Given the description of an element on the screen output the (x, y) to click on. 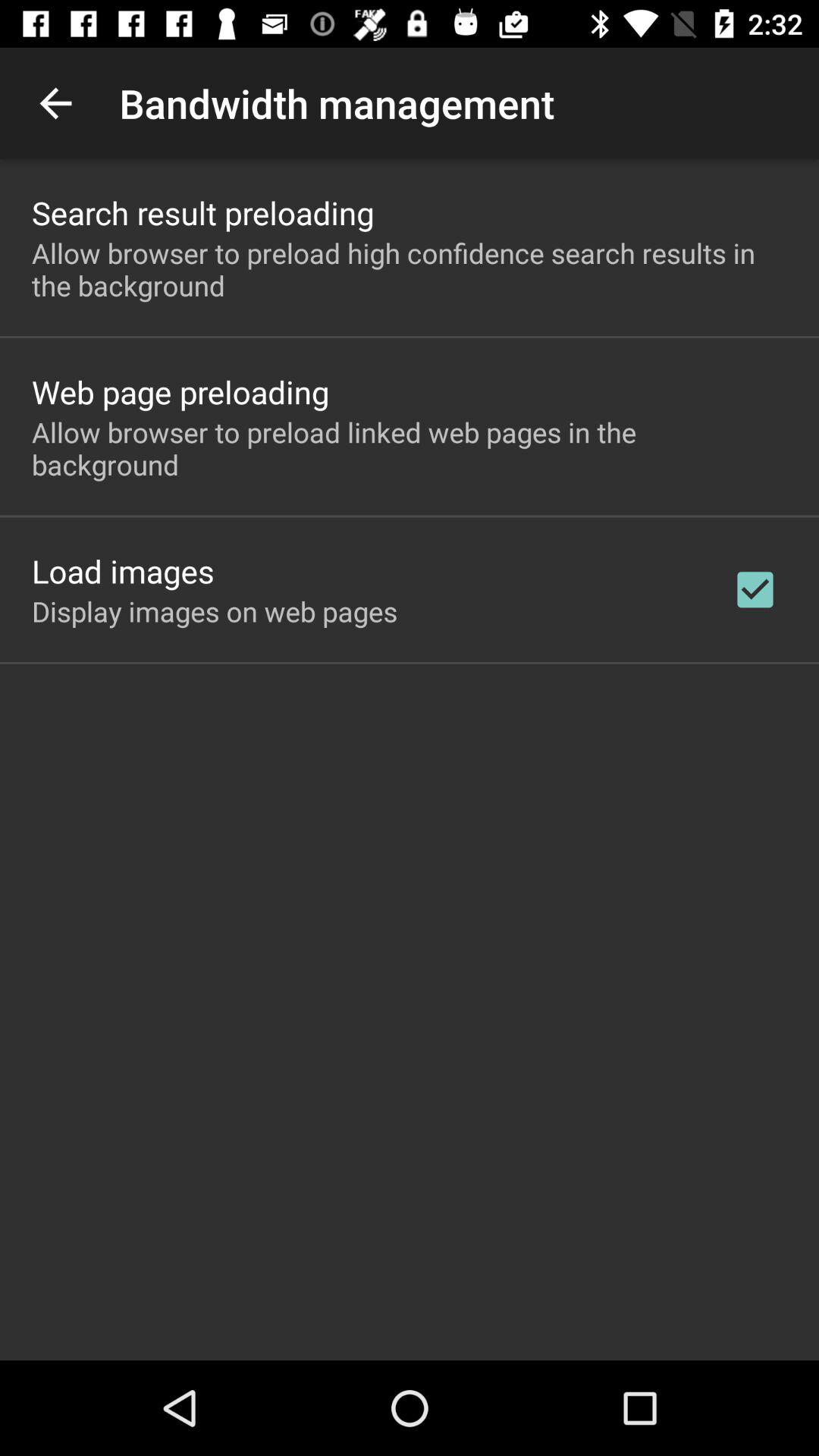
launch icon to the left of bandwidth management icon (55, 103)
